Given the description of an element on the screen output the (x, y) to click on. 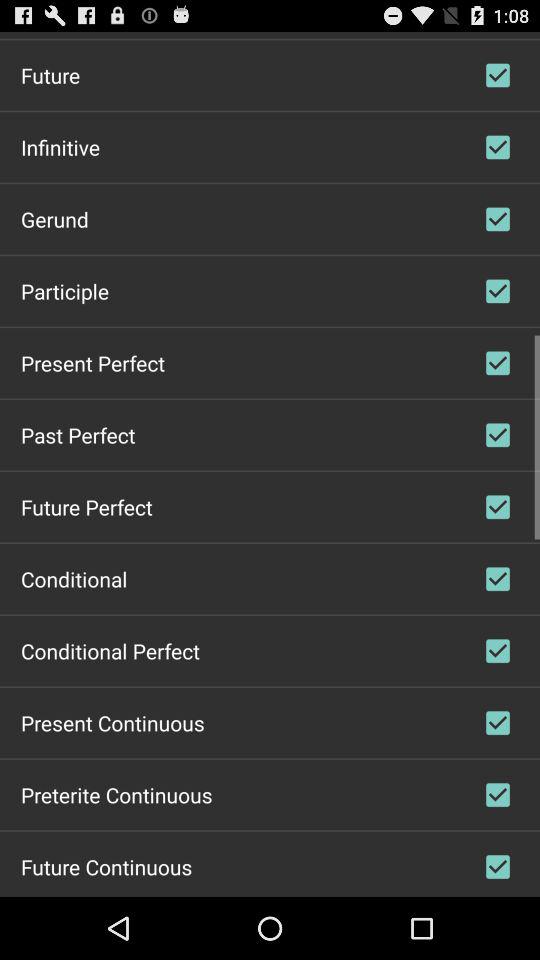
launch icon above preterite continuous item (112, 722)
